Given the description of an element on the screen output the (x, y) to click on. 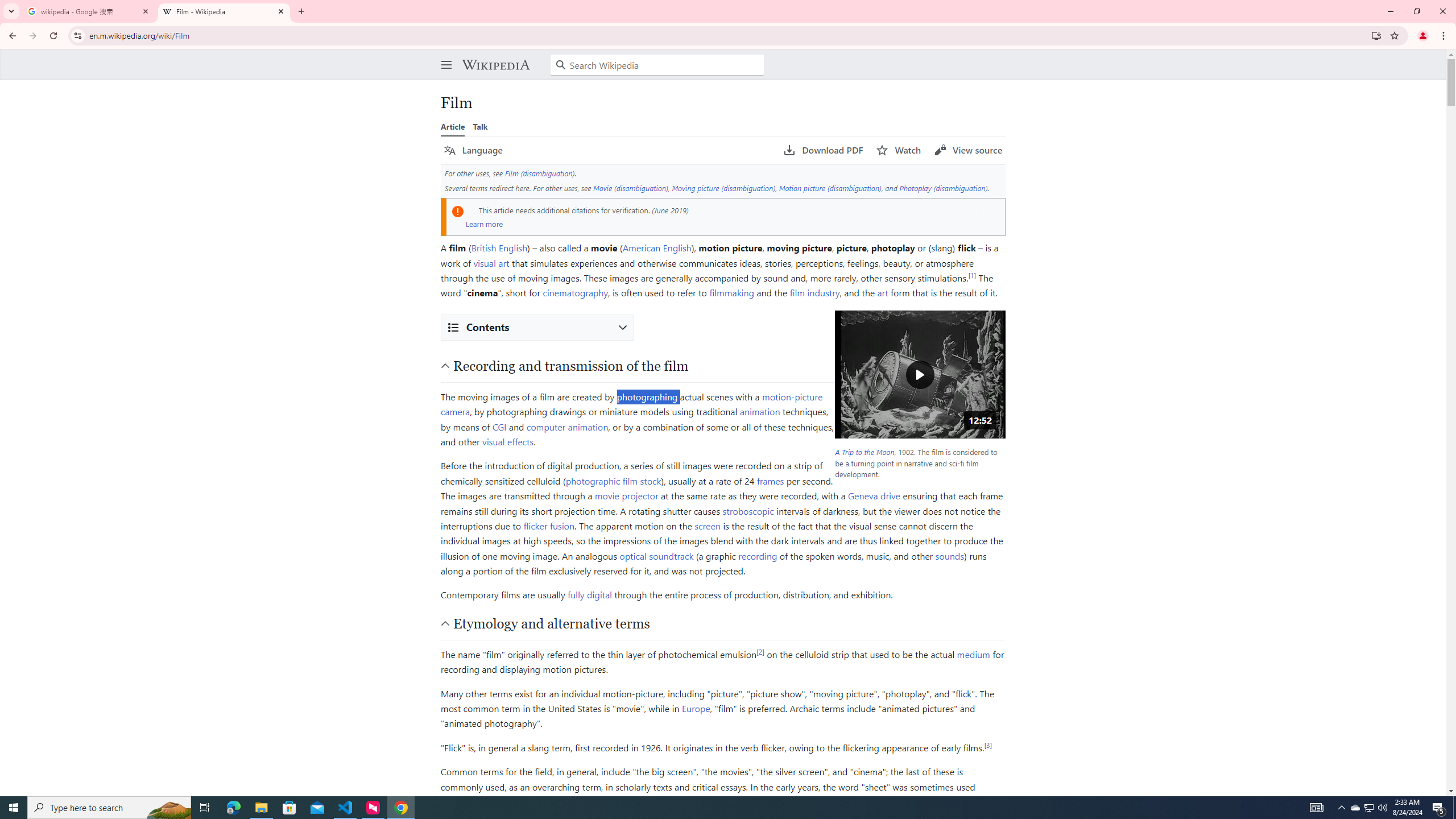
screen (707, 525)
art (882, 292)
fully digital (589, 594)
Film - Wikipedia (224, 11)
photographic film (600, 480)
Install Wikipedia (1376, 35)
recording (757, 555)
CGI (499, 426)
visual effects (507, 440)
flicker fusion (548, 525)
verification (629, 209)
